Given the description of an element on the screen output the (x, y) to click on. 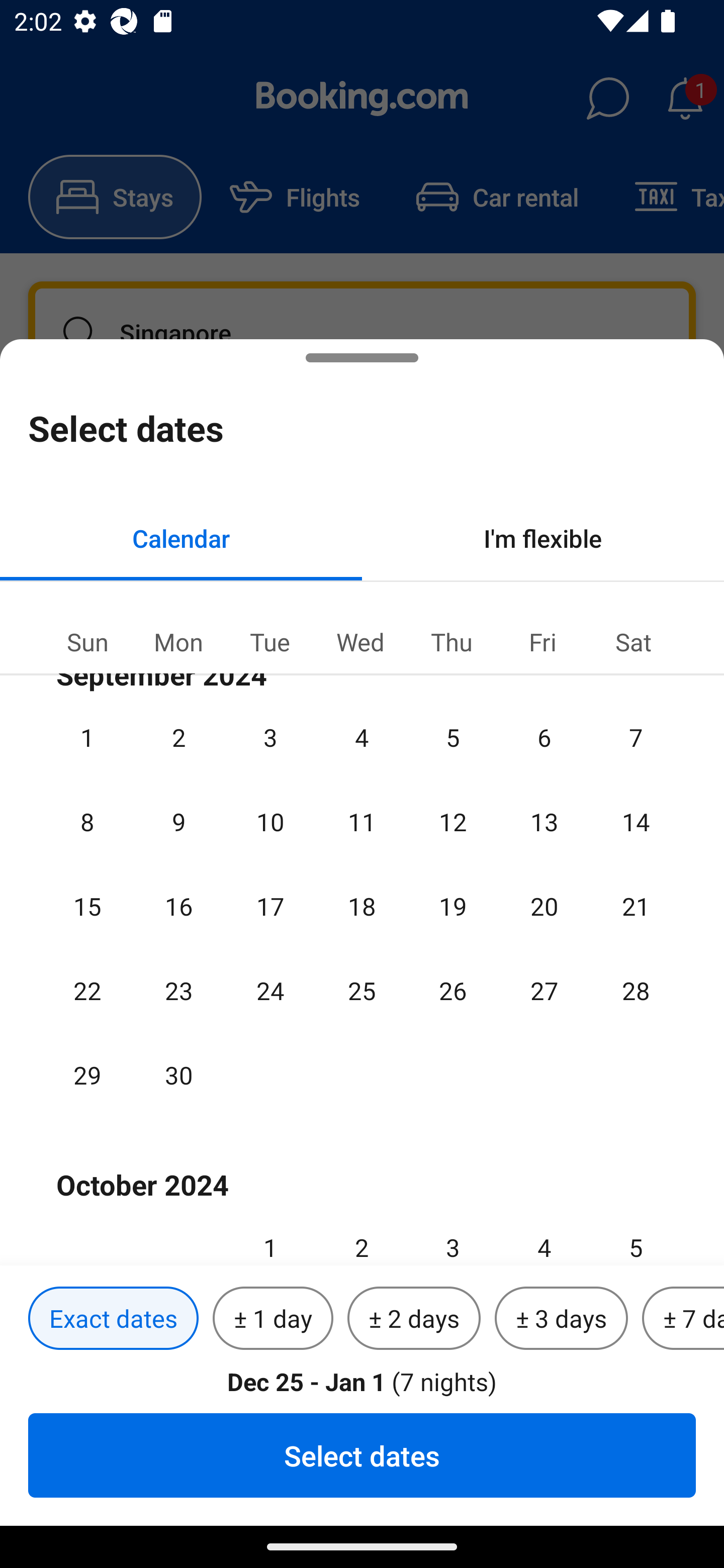
I'm flexible (543, 537)
Exact dates (113, 1318)
± 1 day (272, 1318)
± 2 days (413, 1318)
± 3 days (560, 1318)
± 7 days (683, 1318)
Select dates (361, 1454)
